Given the description of an element on the screen output the (x, y) to click on. 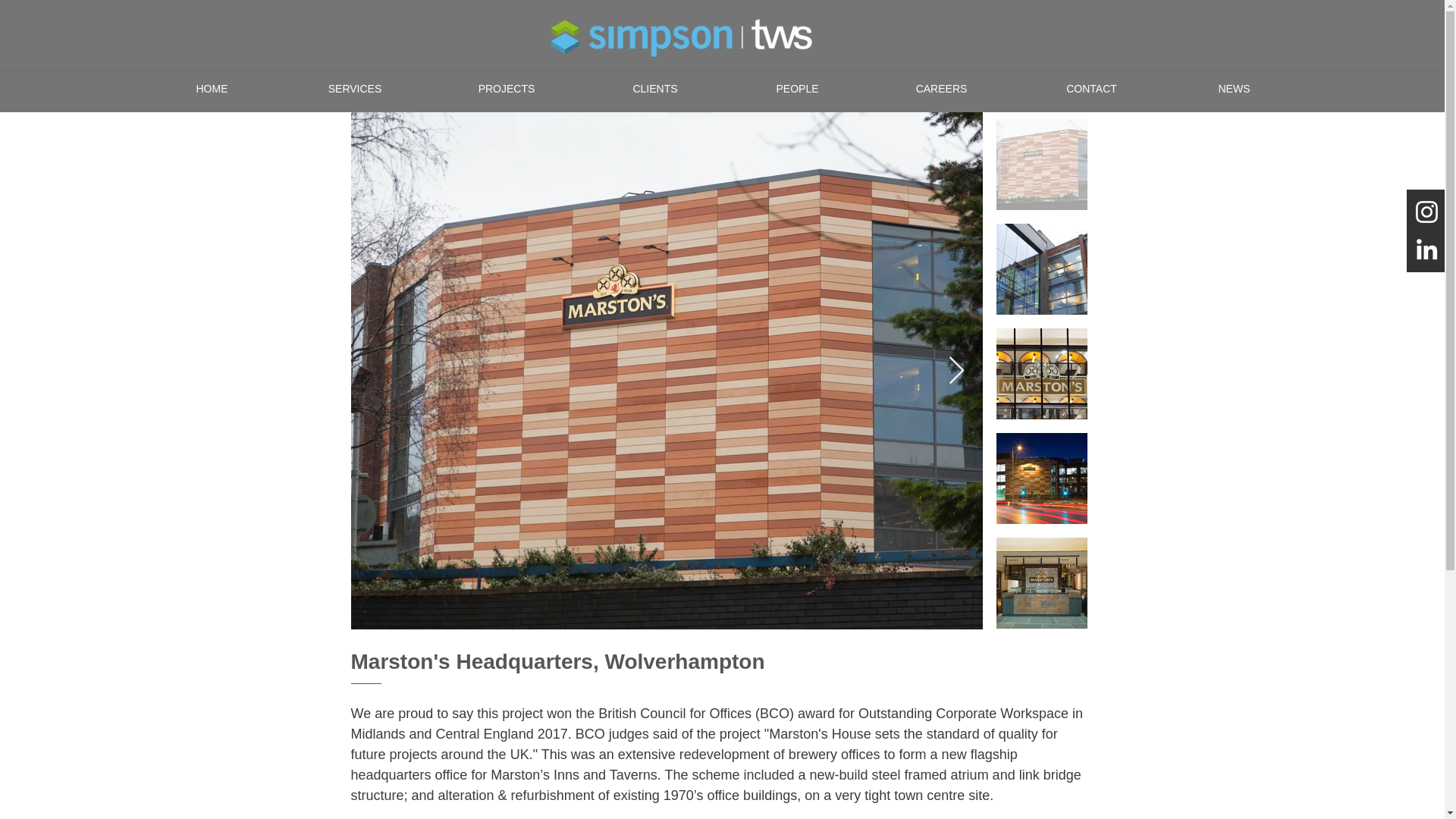
NEWS (1233, 88)
SERVICES (354, 88)
CAREERS (940, 88)
PROJECTS (506, 88)
CONTACT (1090, 88)
HOME (211, 88)
CLIENTS (654, 88)
